Given the description of an element on the screen output the (x, y) to click on. 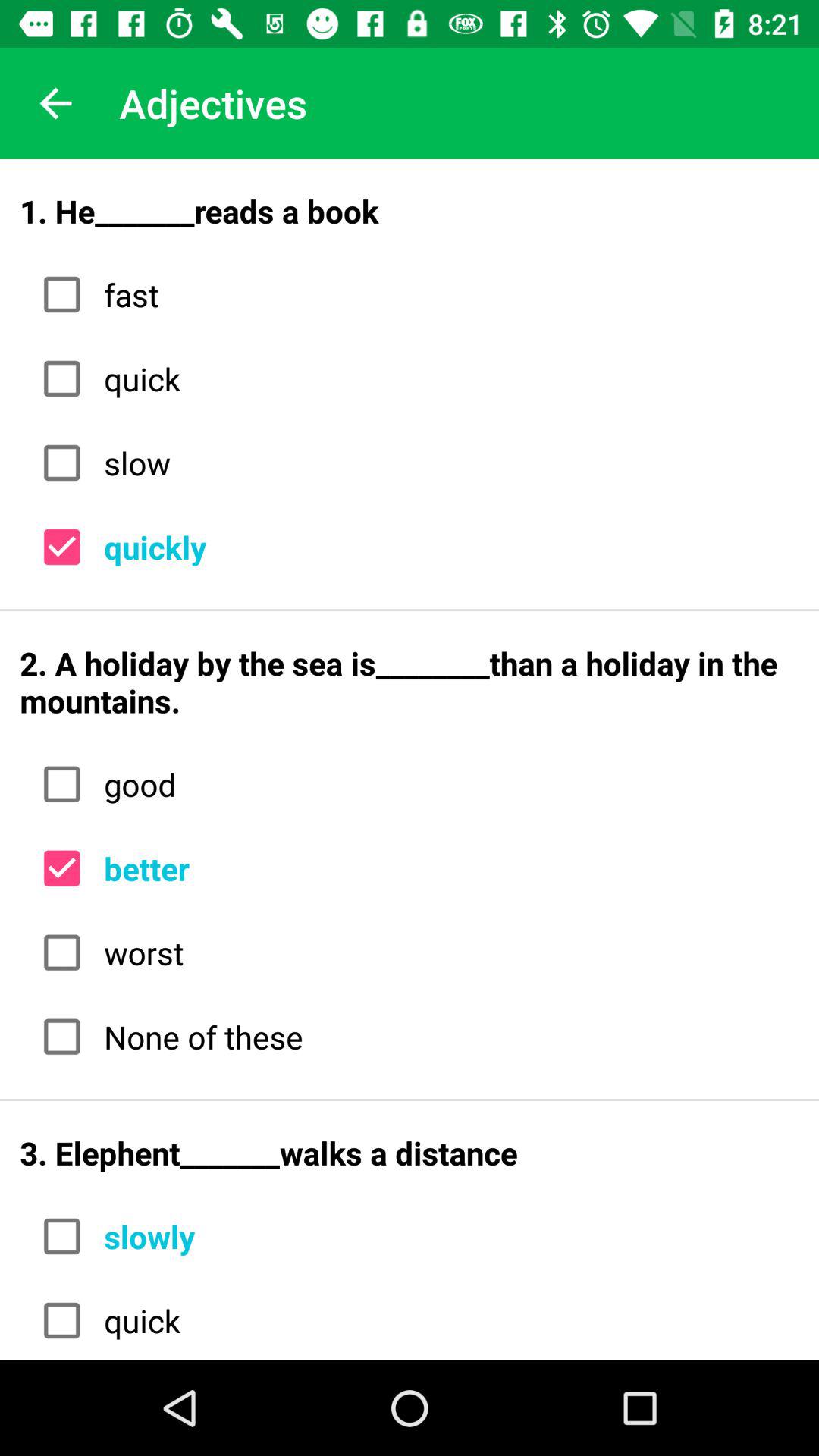
launch the none of these (446, 1036)
